Given the description of an element on the screen output the (x, y) to click on. 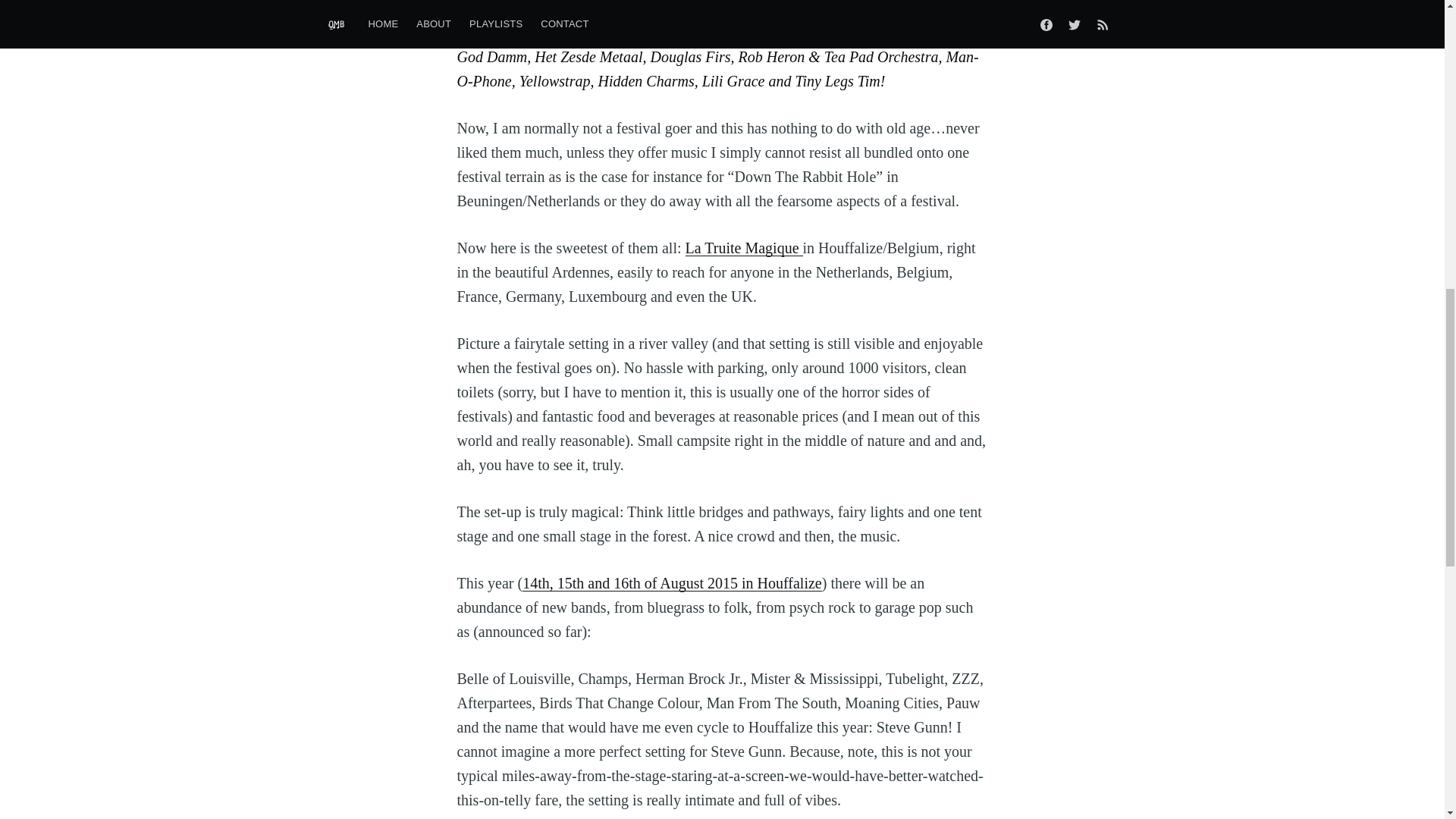
La Truite Magique (744, 247)
14th, 15th and 16th of August 2015 in Houffalize (672, 582)
